Given the description of an element on the screen output the (x, y) to click on. 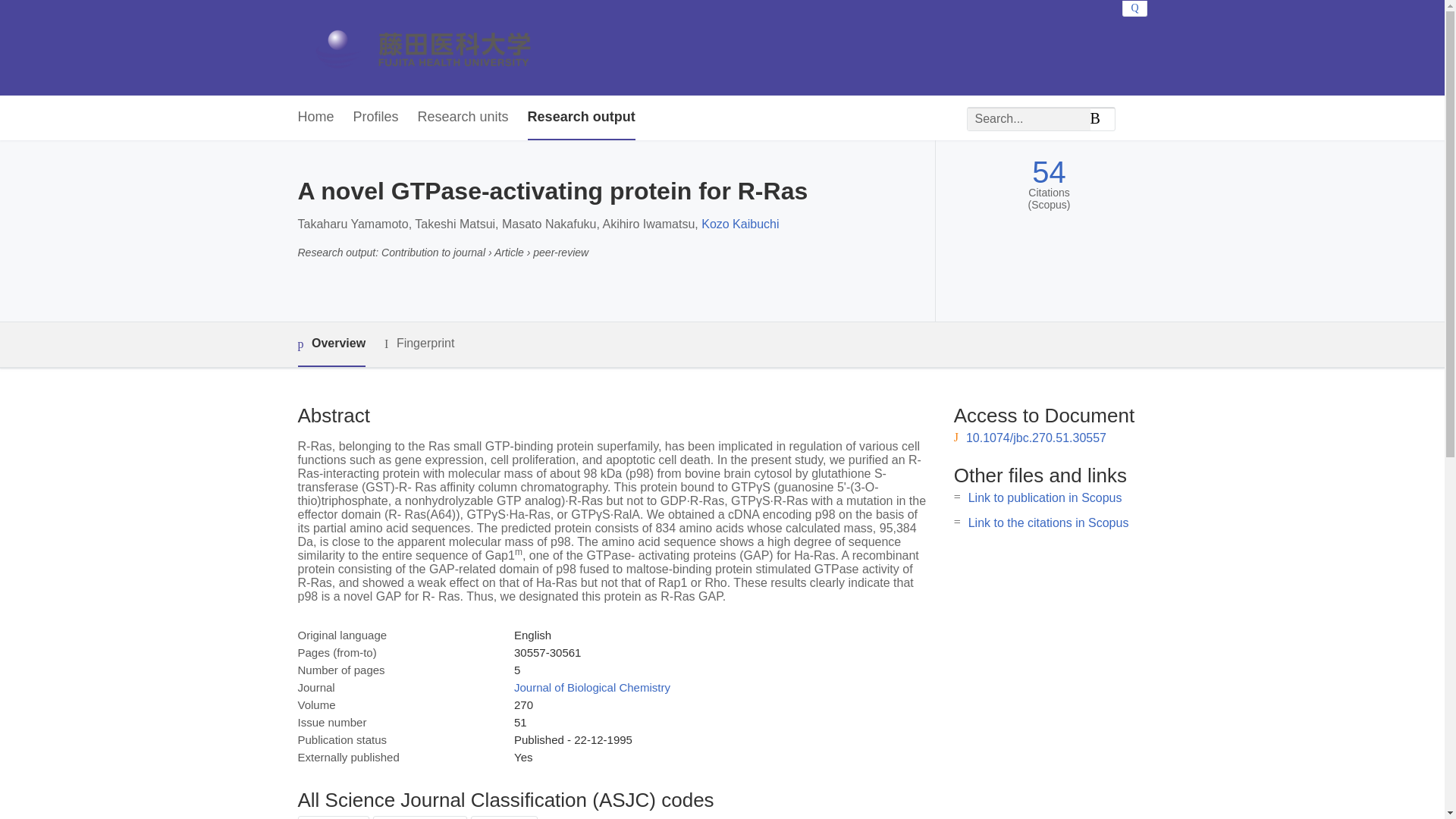
Fujita Health University Home (437, 47)
Fingerprint (419, 343)
Link to publication in Scopus (1045, 497)
Journal of Biological Chemistry (591, 686)
Research output (580, 117)
54 (1048, 171)
Overview (331, 344)
Profiles (375, 117)
Research units (462, 117)
Kozo Kaibuchi (739, 223)
Link to the citations in Scopus (1048, 522)
